Given the description of an element on the screen output the (x, y) to click on. 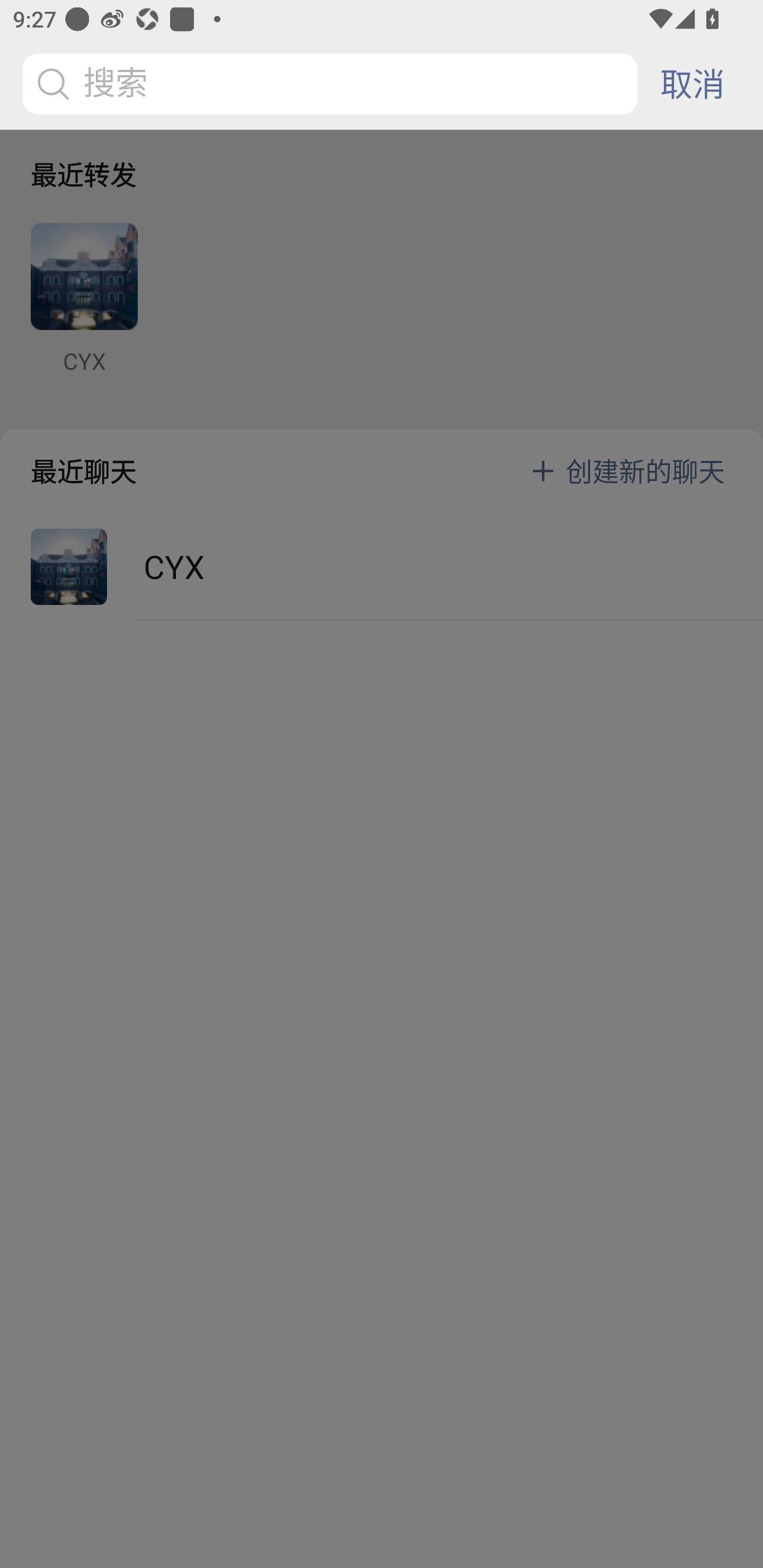
取消 (692, 83)
搜索 (333, 83)
